Given the description of an element on the screen output the (x, y) to click on. 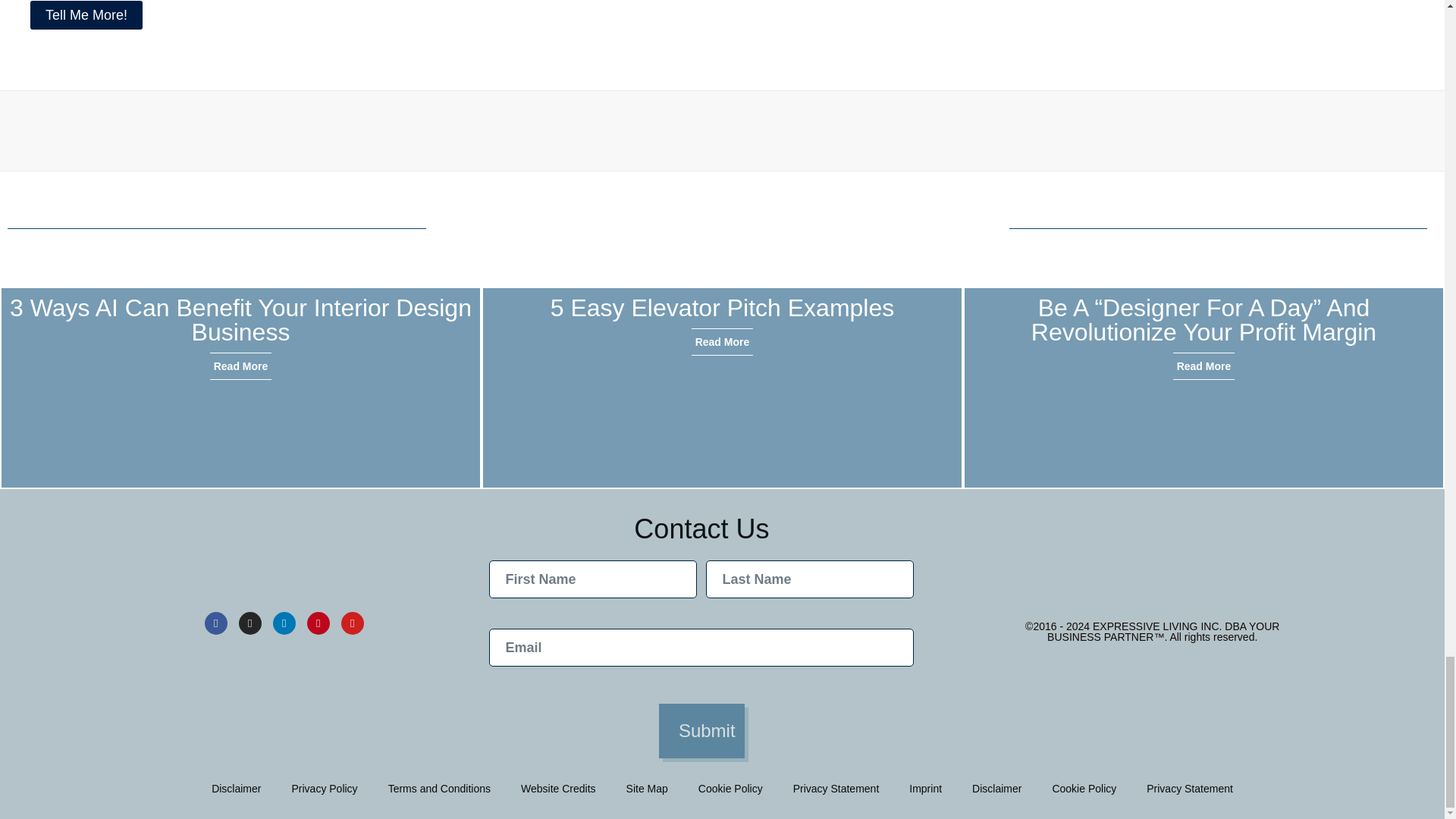
Submit (701, 730)
